Given the description of an element on the screen output the (x, y) to click on. 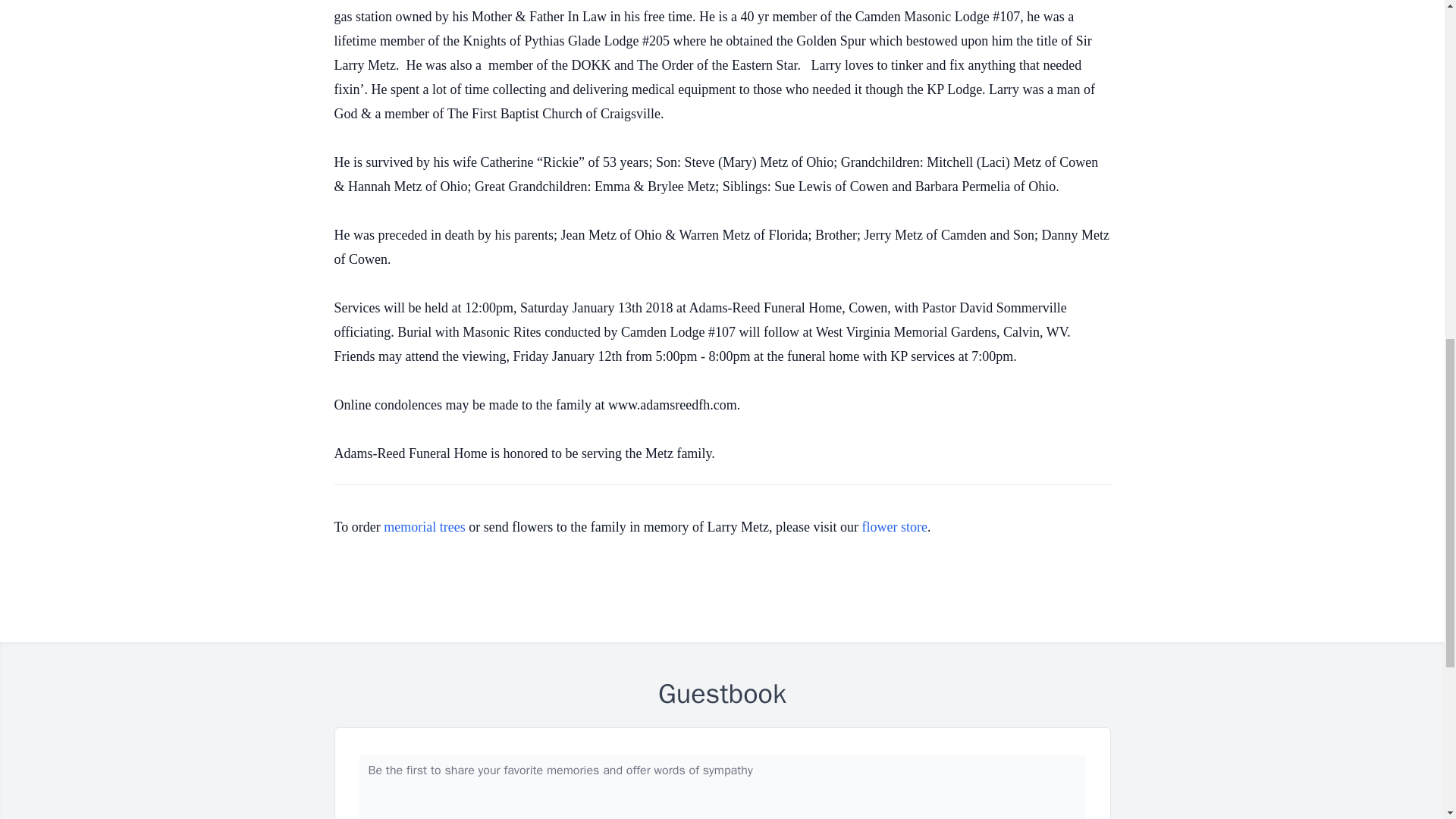
flower store (894, 526)
memorial trees (424, 526)
